Given the description of an element on the screen output the (x, y) to click on. 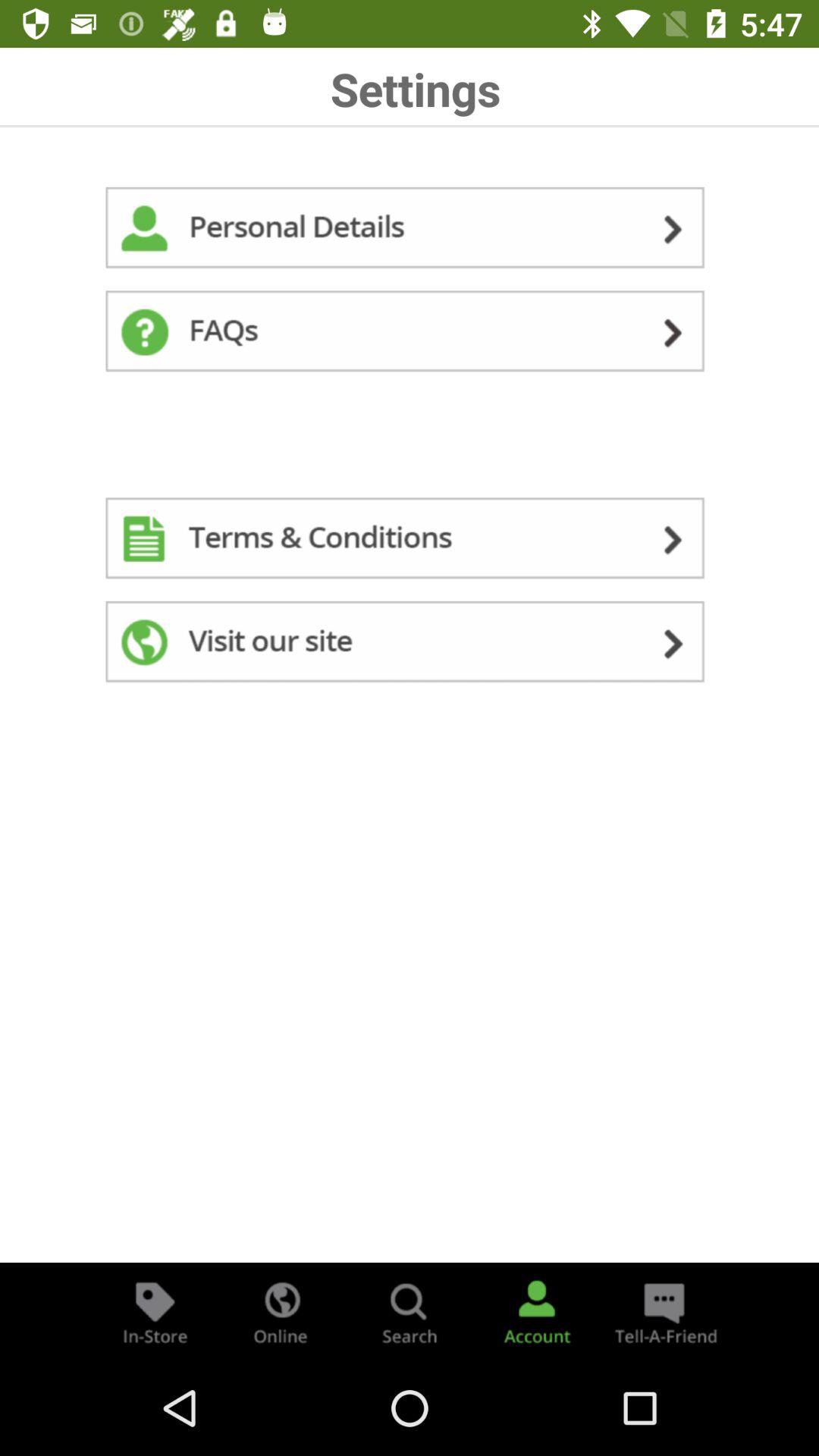
access frequently asked questions (409, 334)
